Given the description of an element on the screen output the (x, y) to click on. 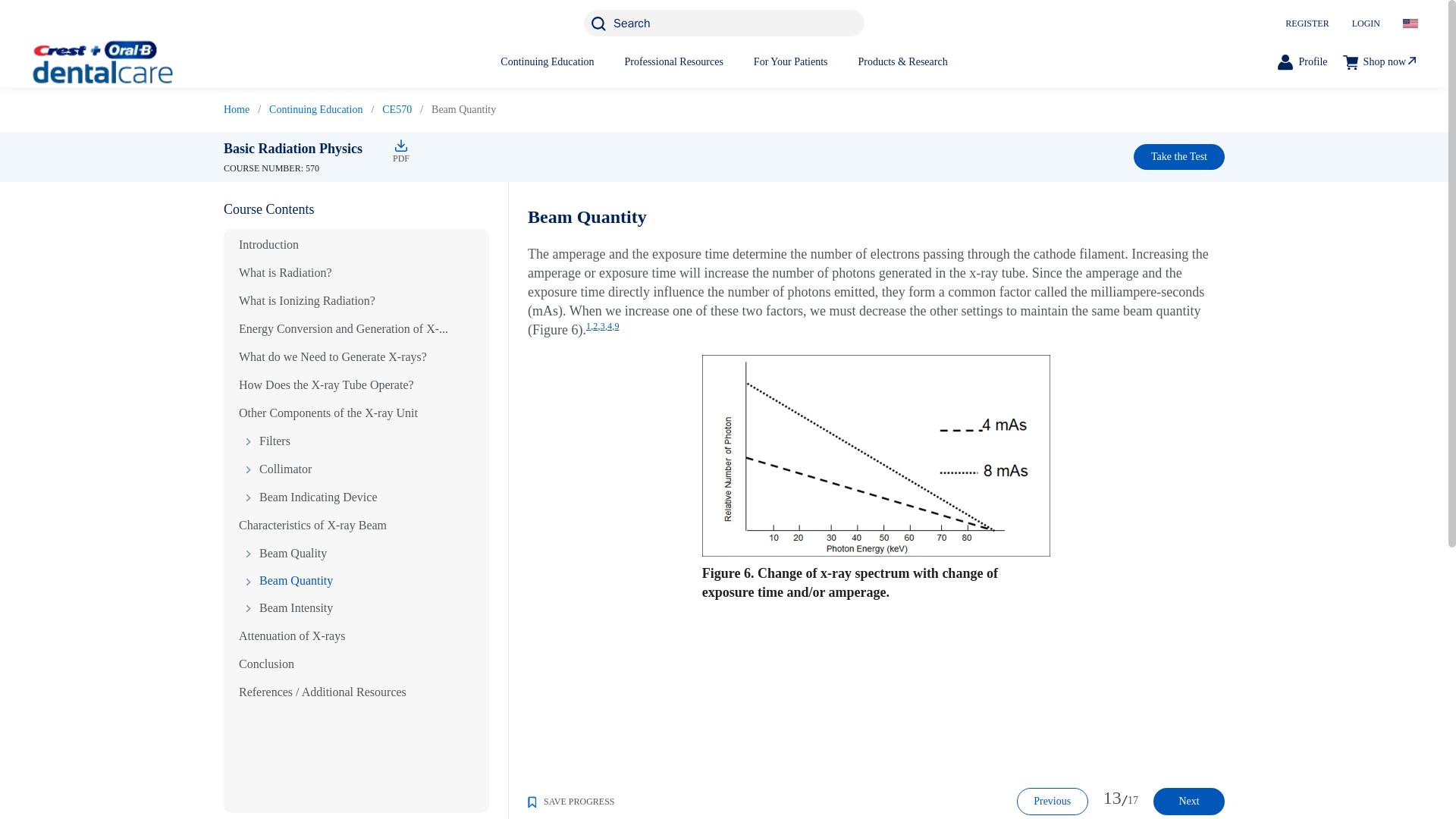
REGISTER (1306, 22)
Other Components of the X-ray Unit (327, 412)
Beam Indicating Device (307, 497)
Search (723, 22)
What is Ionizing Radiation? (306, 300)
Filters (263, 441)
LOGIN (1366, 22)
How Does the X-ray Tube Operate? (325, 384)
Energy Conversion and Generation of X-... (343, 328)
Beam Intensity (285, 607)
